Given the description of an element on the screen output the (x, y) to click on. 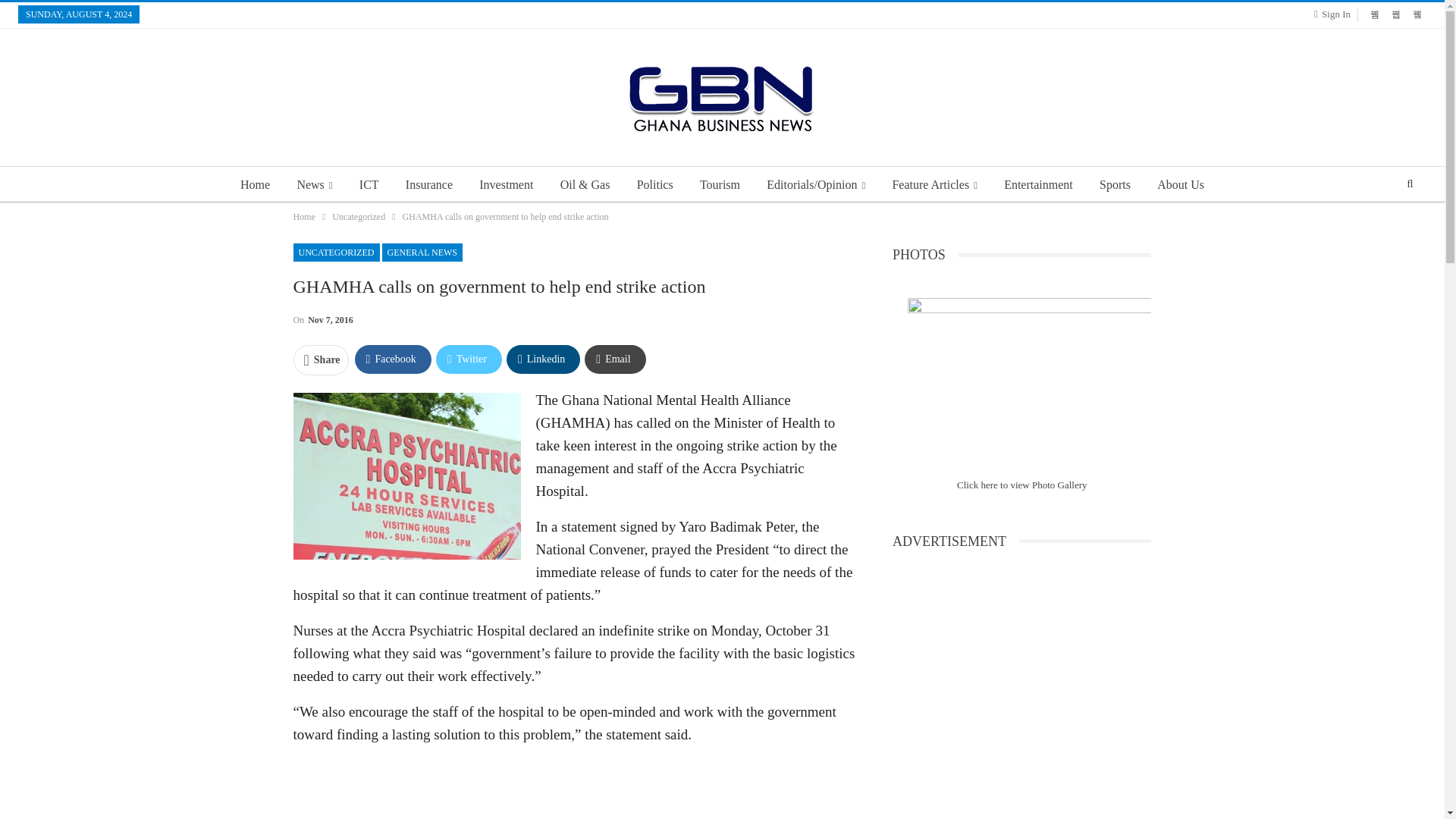
Sign In (1335, 13)
ICT (369, 185)
Investment (505, 185)
13th-African-games-30 (1029, 379)
Email (615, 358)
GENERAL NEWS (422, 252)
Politics (654, 185)
About Us (1180, 185)
Linkedin (542, 358)
Twitter (468, 358)
Feature Articles (934, 185)
Entertainment (1037, 185)
Uncategorized (358, 216)
UNCATEGORIZED (335, 252)
Insurance (428, 185)
